Given the description of an element on the screen output the (x, y) to click on. 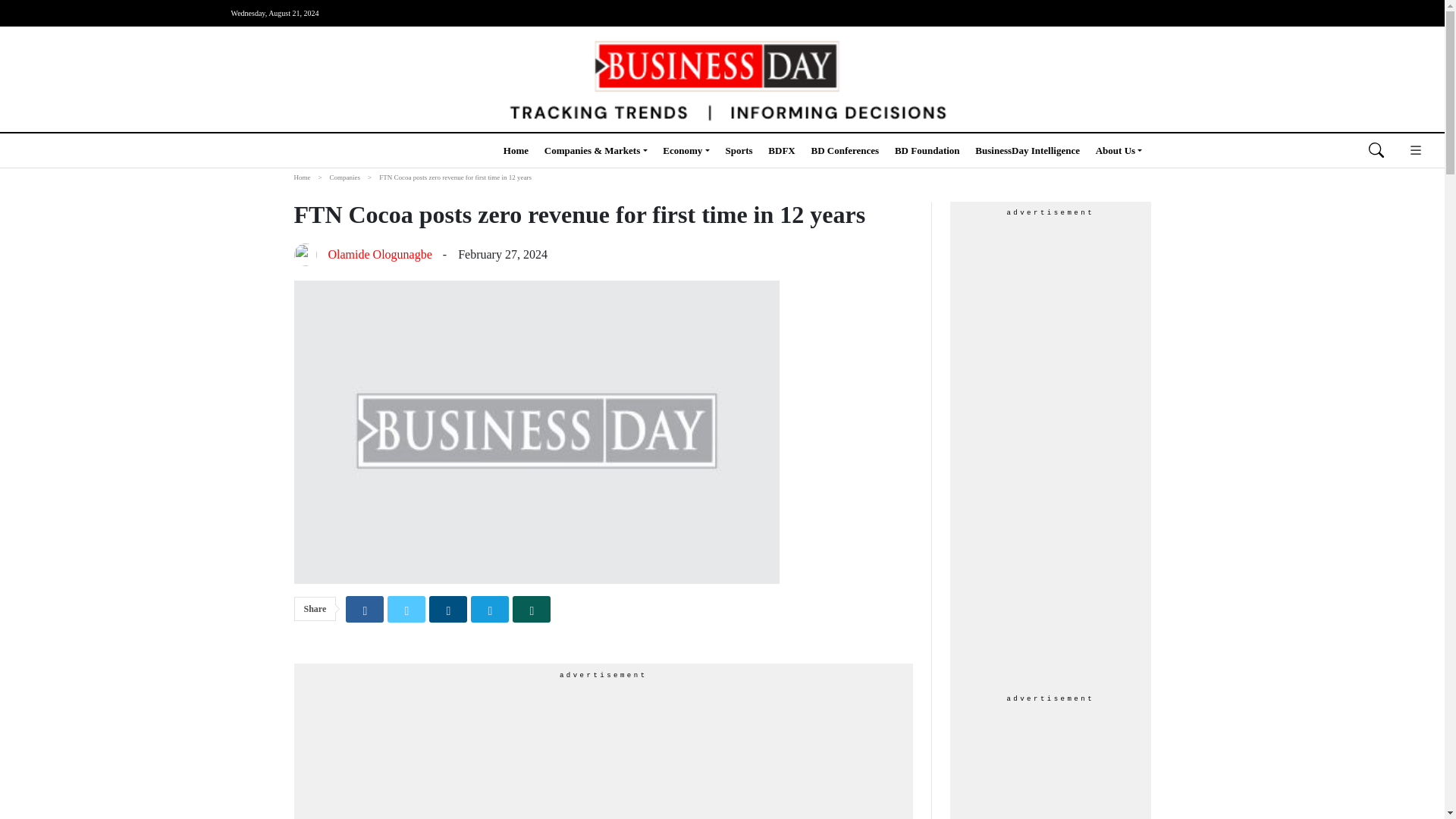
BusinessDay Intelligence (1027, 149)
BD Foundation (927, 149)
BD Conferences (844, 149)
Economy (685, 149)
BD Conferences (844, 149)
BD Foundation (927, 149)
About Us (1119, 149)
Economy (685, 149)
About Us (1119, 149)
BusinessDay Intelligence (1027, 149)
